Given the description of an element on the screen output the (x, y) to click on. 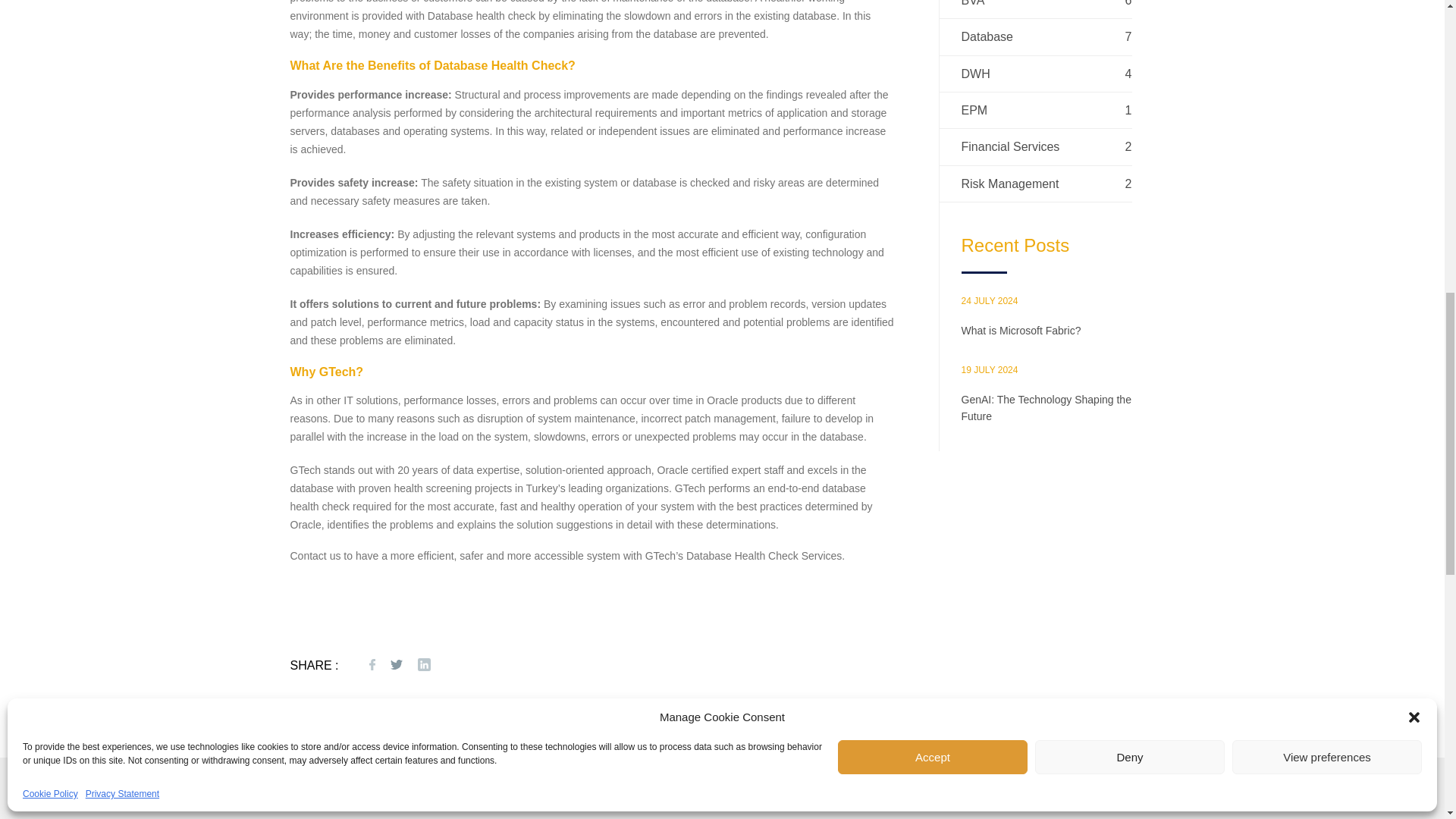
Accept (932, 347)
Deny (1129, 347)
Cookie Policy (50, 385)
Privacy Statement (121, 385)
View preferences (1326, 347)
